Given the description of an element on the screen output the (x, y) to click on. 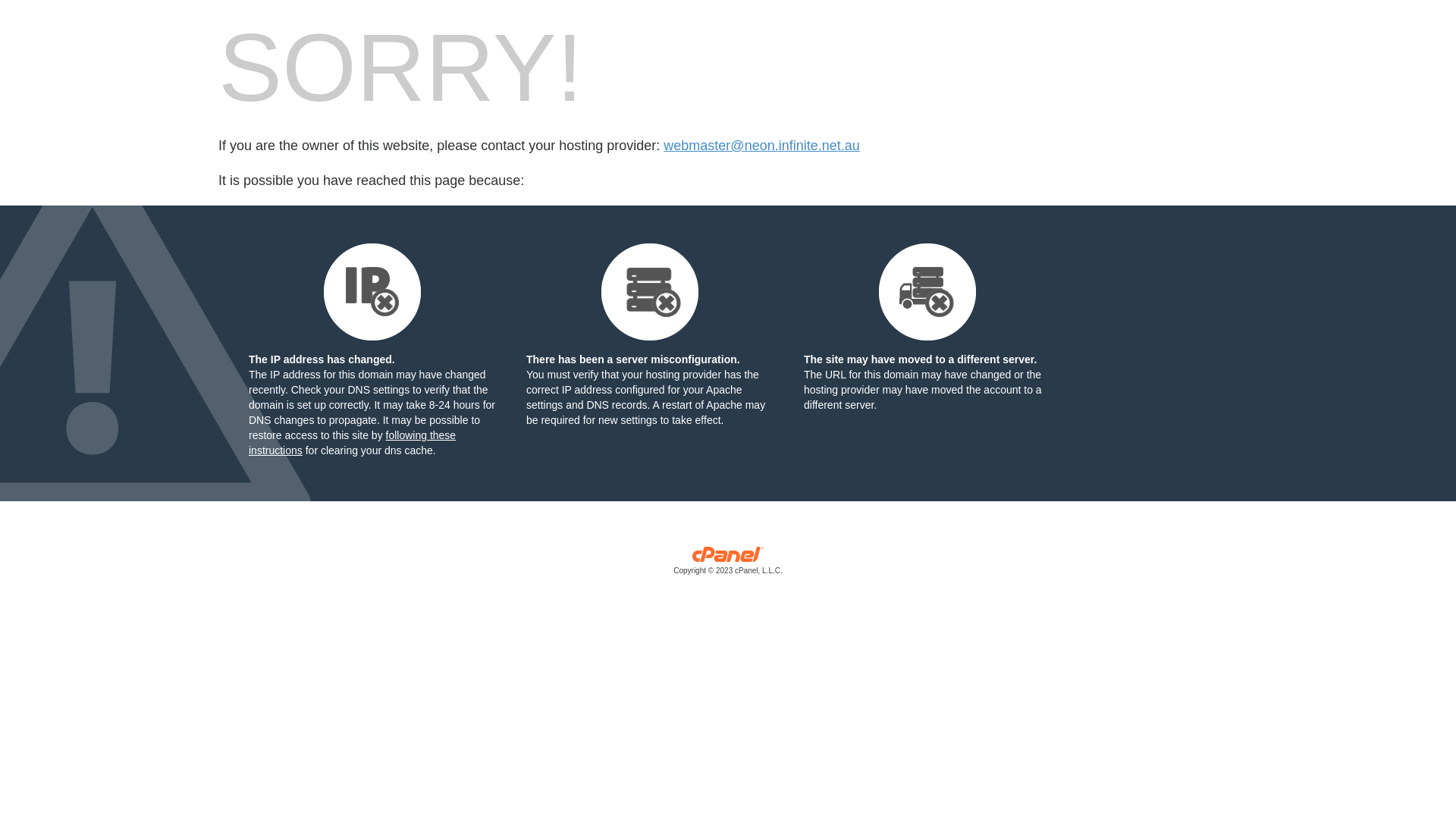
webmaster@neon.infinite.net.au Element type: text (761, 145)
following these instructions Element type: text (351, 442)
